Given the description of an element on the screen output the (x, y) to click on. 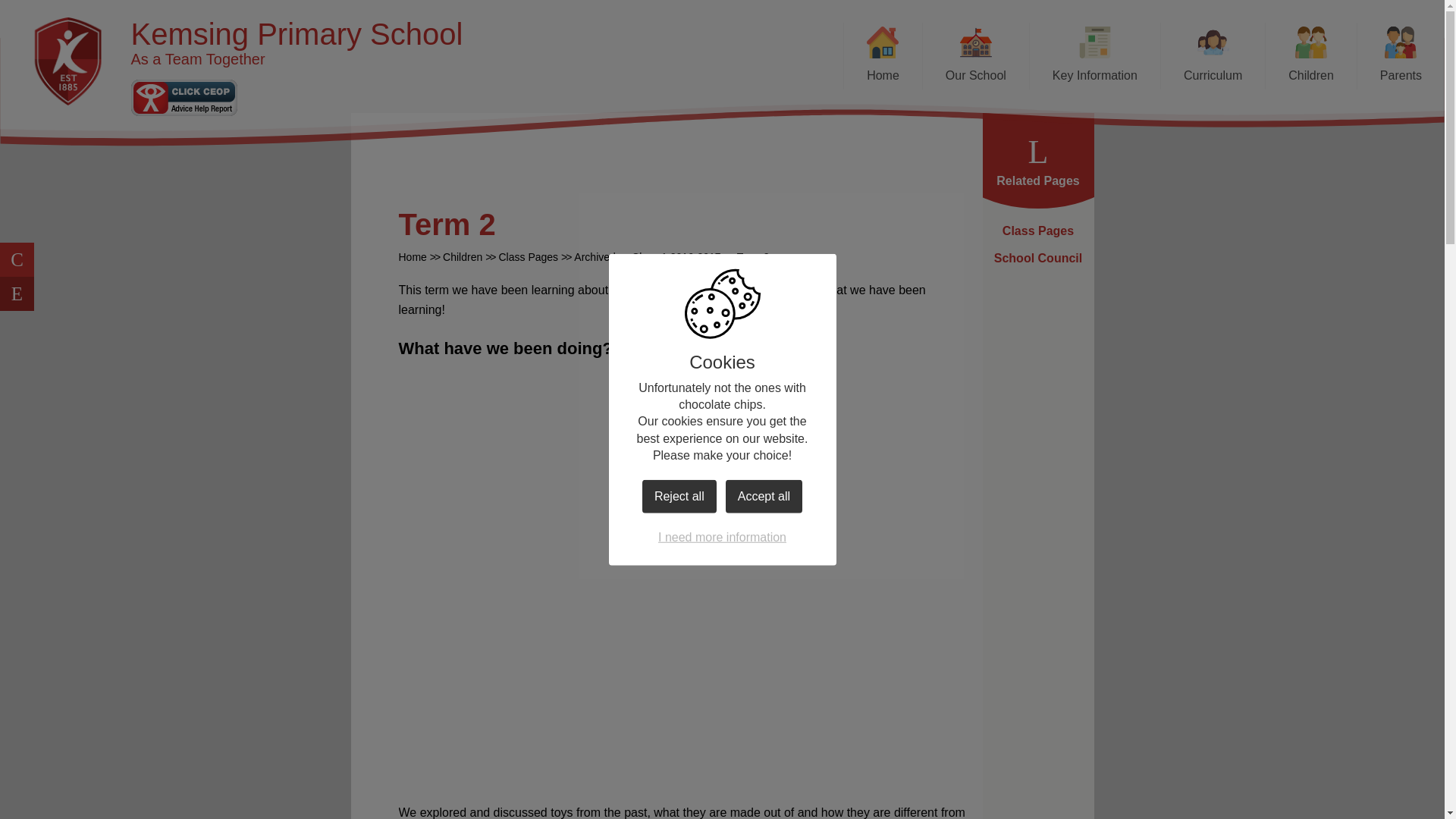
Home Page (68, 61)
Home (882, 55)
Our School (975, 55)
Key Information (1094, 55)
Curriculum (1212, 55)
CEOP - Advice, Help and Report (184, 97)
